Given the description of an element on the screen output the (x, y) to click on. 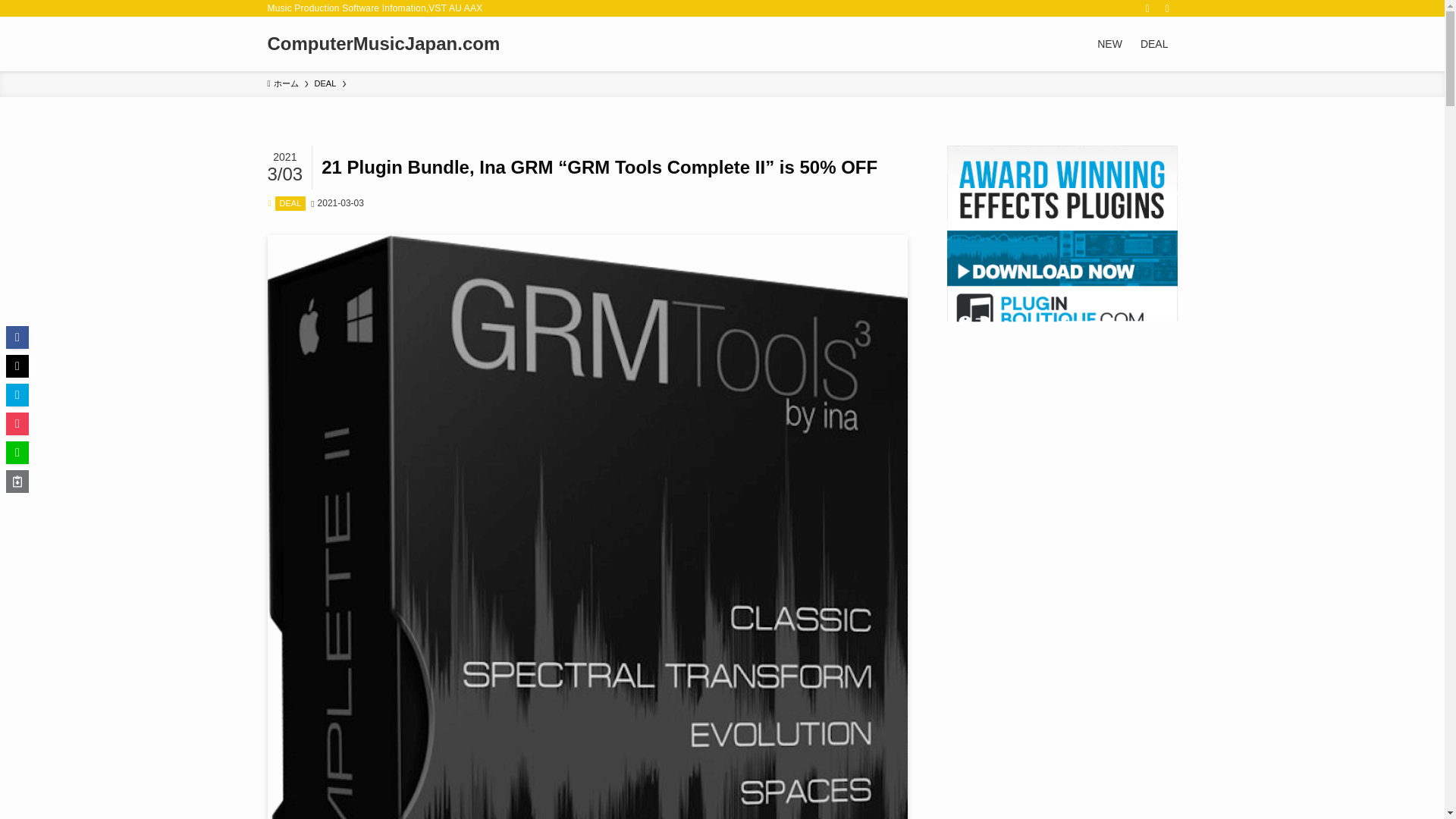
DEAL (325, 83)
ComputerMusicJapan.com (382, 44)
DEAL (290, 203)
ComputerMusicJapan.com (382, 44)
